Given the description of an element on the screen output the (x, y) to click on. 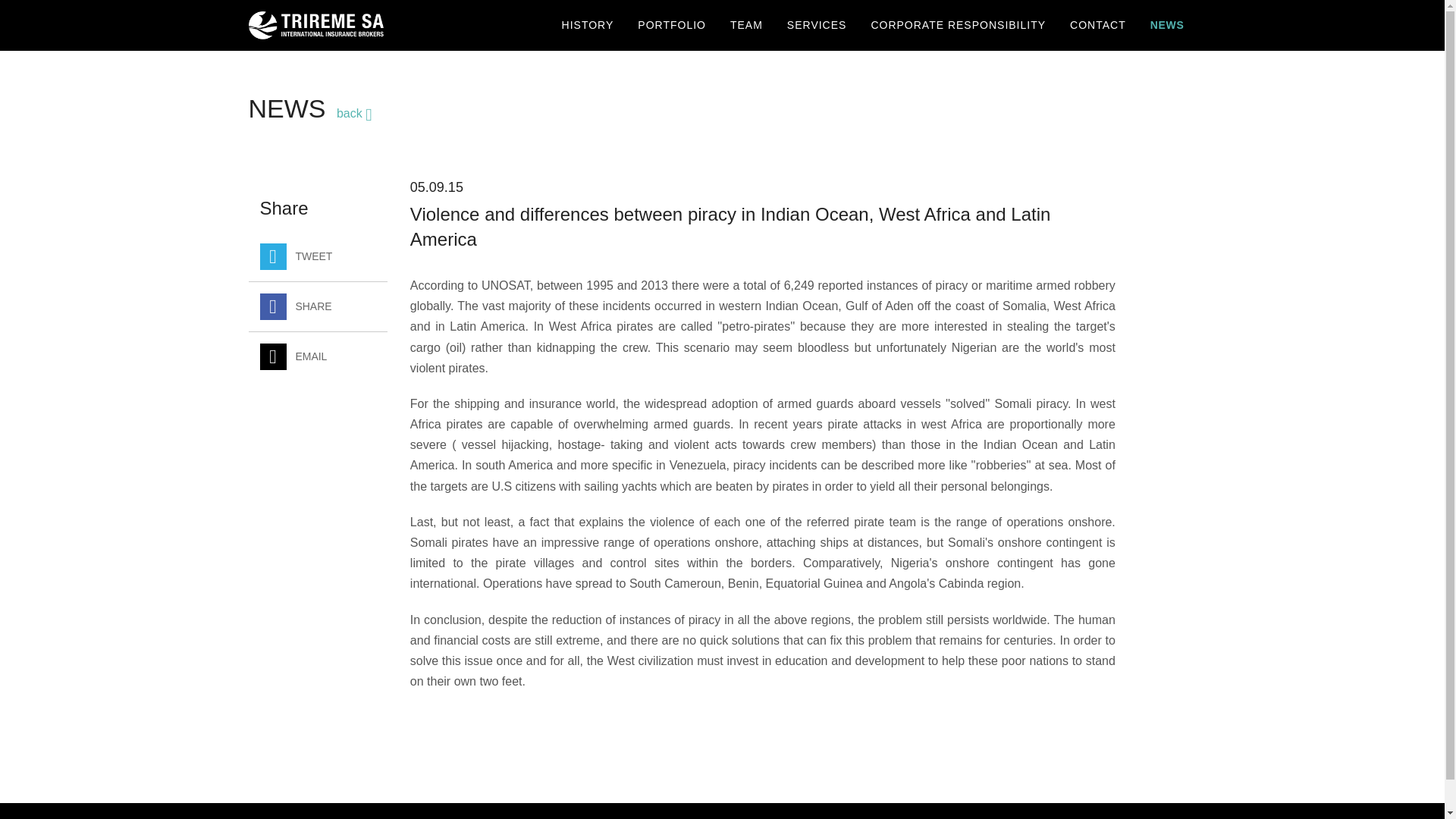
CORPORATE RESPONSIBILITY (958, 25)
SHARE (317, 312)
CONTACT (1098, 25)
PORTFOLIO (671, 25)
SERVICES (816, 25)
EMAIL (317, 362)
TWEET (317, 262)
NEWS (1167, 25)
back (354, 114)
TEAM (745, 25)
